Given the description of an element on the screen output the (x, y) to click on. 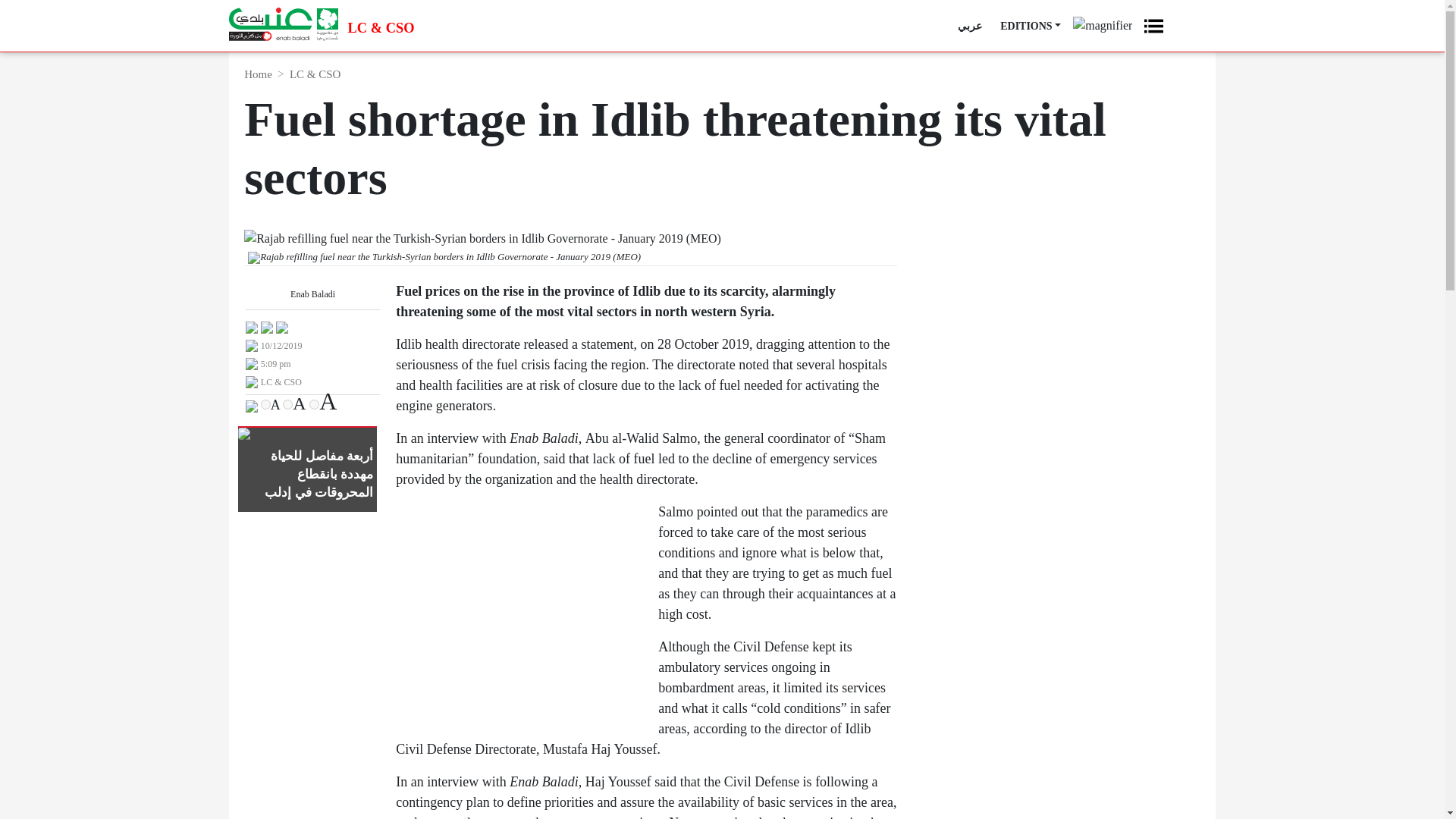
on (287, 404)
EDITIONS (1030, 25)
logo (282, 24)
on (265, 404)
magnifier (1102, 20)
on (313, 404)
